Given the description of an element on the screen output the (x, y) to click on. 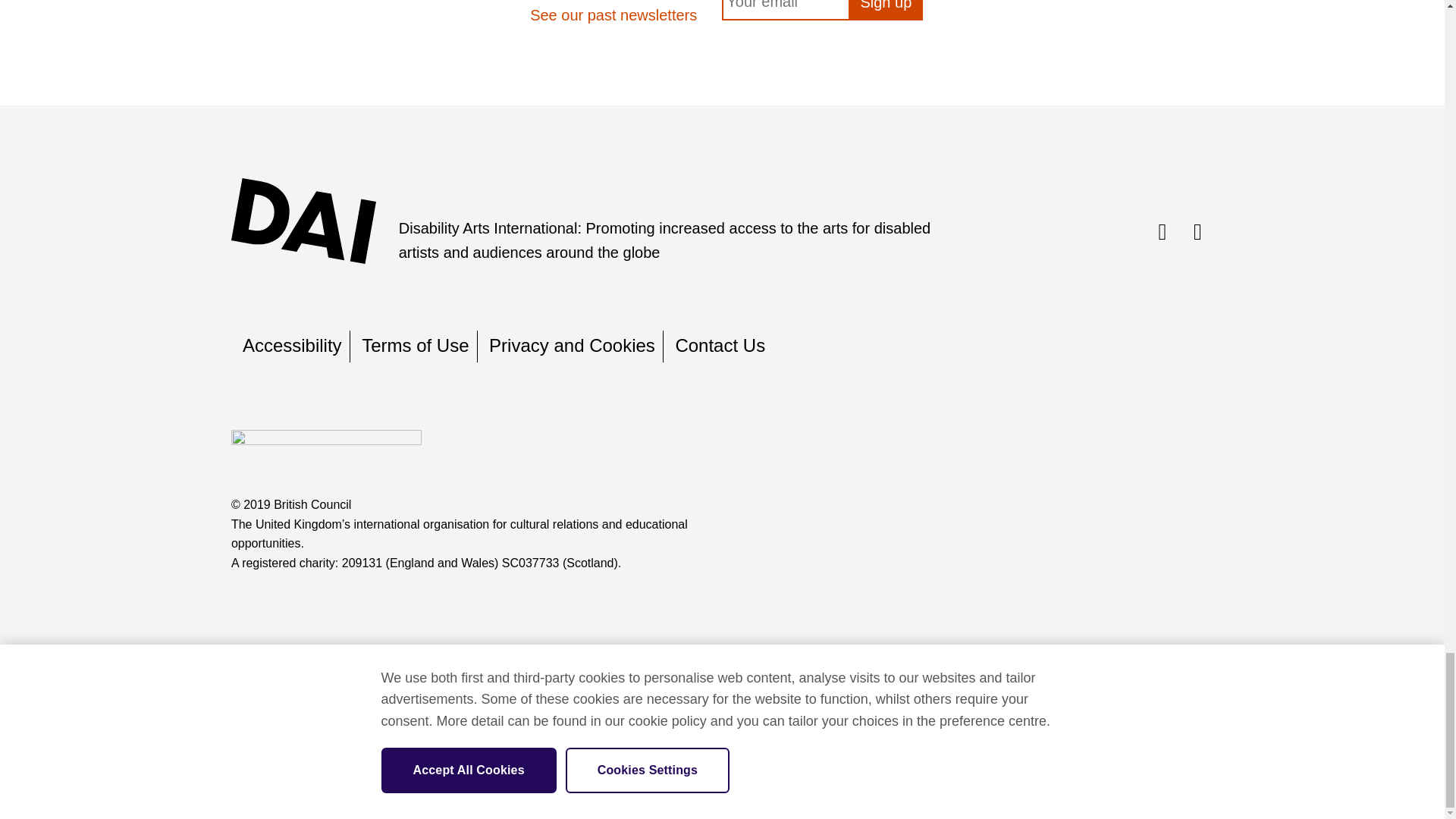
Privacy and Cookies (572, 344)
Contact Us (720, 344)
See our past newsletters (613, 15)
Accessibility (292, 344)
Sign up (885, 10)
Terms of Use (414, 344)
Sign up (885, 10)
